Given the description of an element on the screen output the (x, y) to click on. 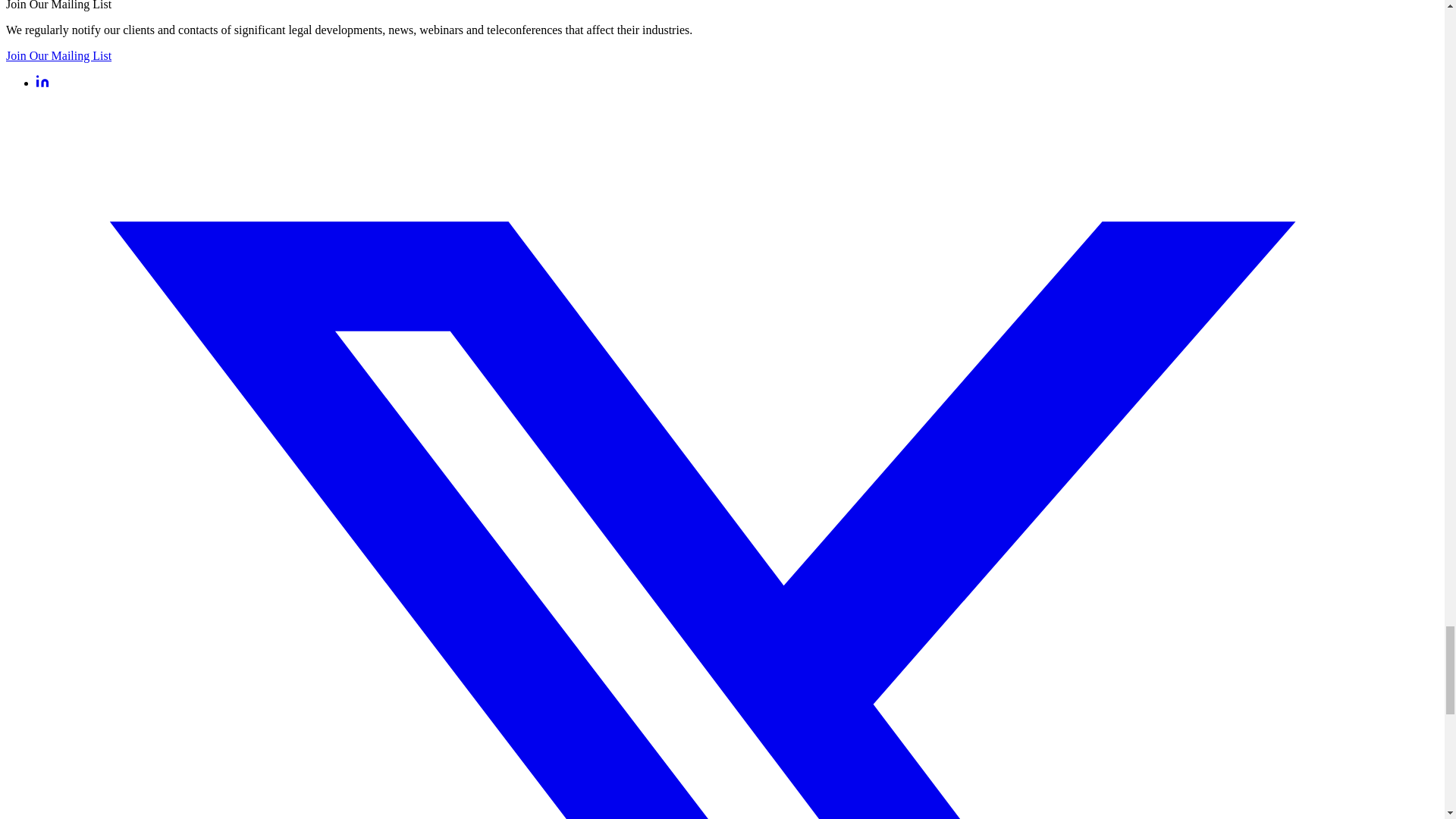
linkedin (42, 82)
